Given the description of an element on the screen output the (x, y) to click on. 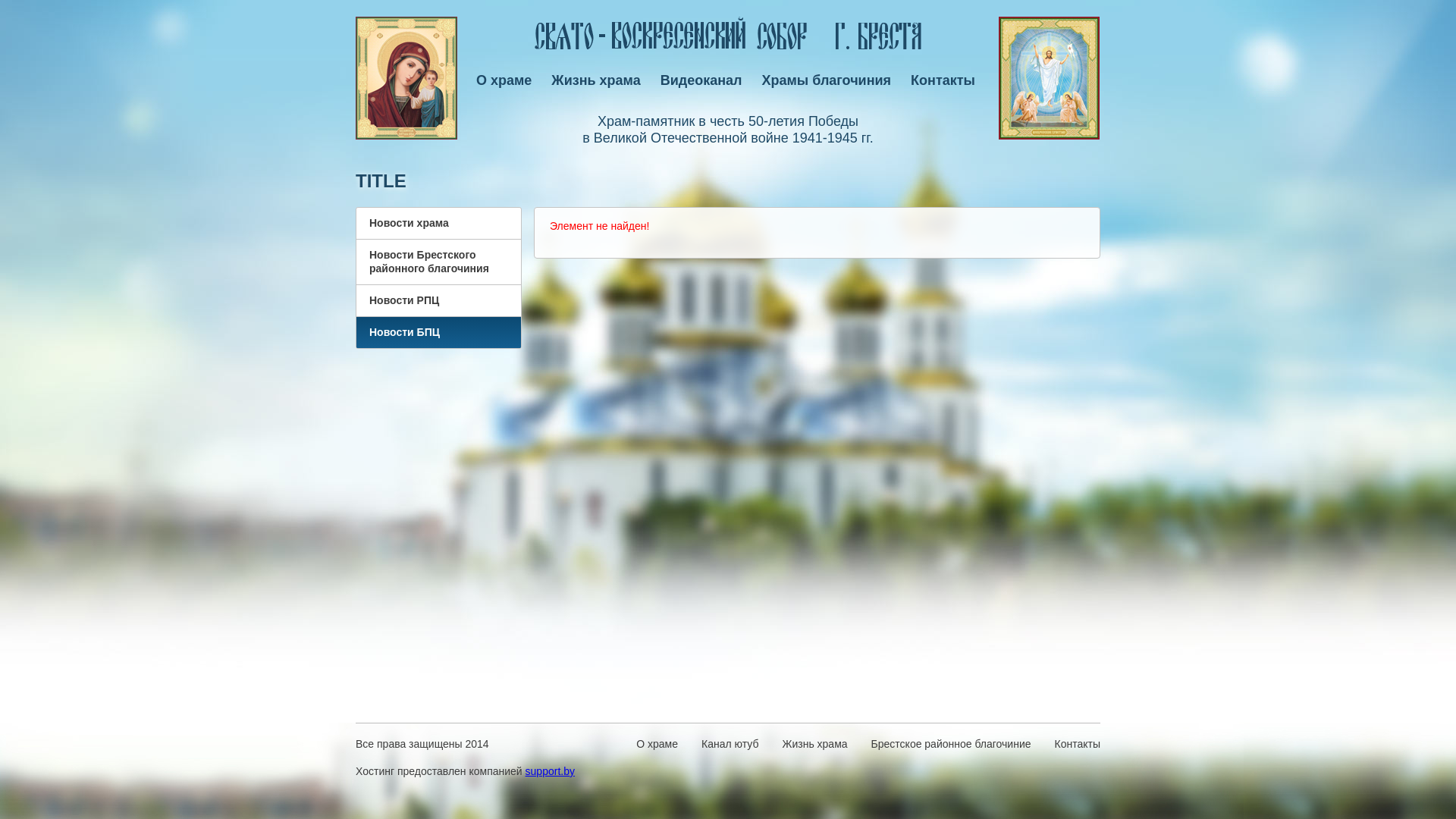
support.by Element type: text (549, 771)
